Given the description of an element on the screen output the (x, y) to click on. 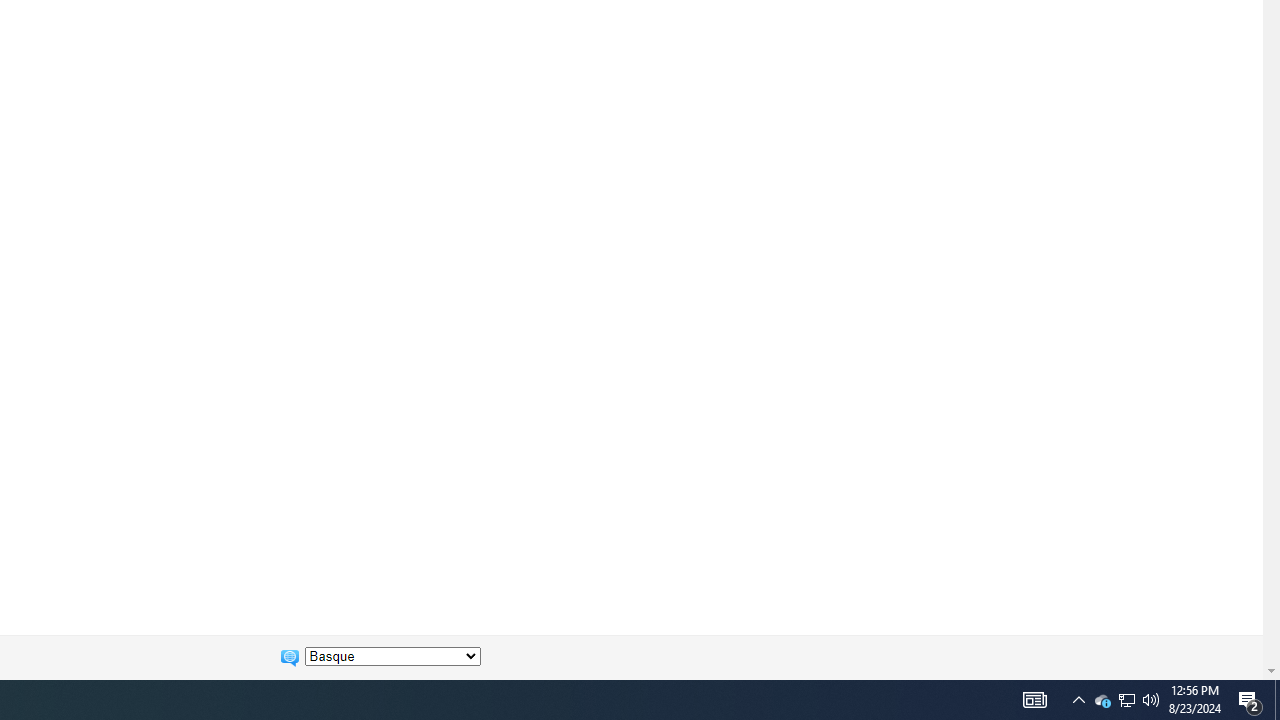
User Promoted Notification Area (1126, 699)
Action Center, 2 new notifications (1126, 699)
Show desktop (1250, 699)
AutomationID: 4105 (1102, 699)
Change language: (1277, 699)
Notification Chevron (1034, 699)
Q2790: 100% (392, 656)
